Given the description of an element on the screen output the (x, y) to click on. 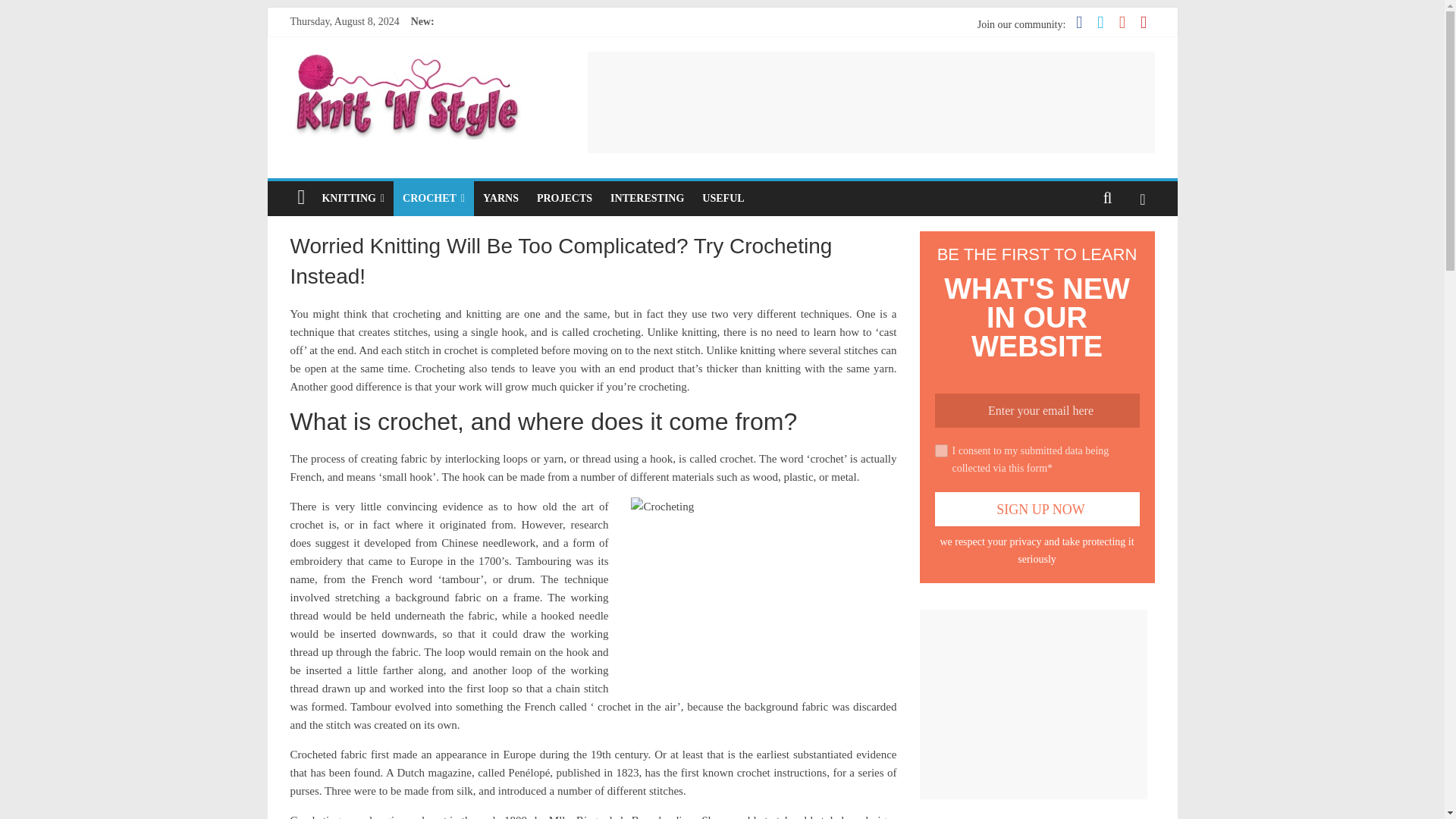
PROJECTS (564, 198)
CROCHET (433, 198)
Knit and Style (406, 60)
Sign Up Now (1036, 509)
YARNS (500, 198)
KNITTING (353, 198)
on (940, 450)
INTERESTING (647, 198)
Enter your email here (1036, 410)
USEFUL (722, 198)
